Given the description of an element on the screen output the (x, y) to click on. 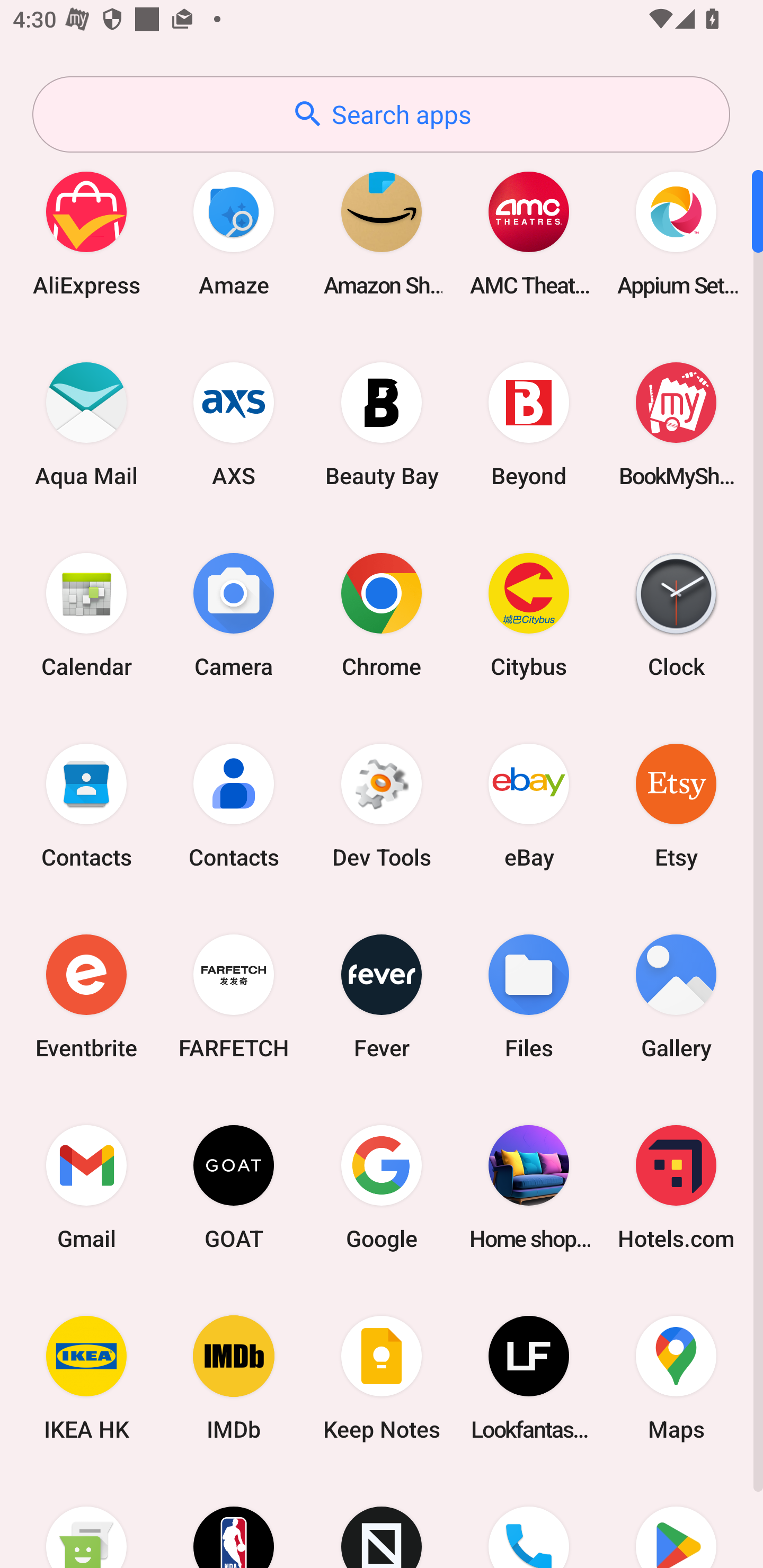
  Search apps (381, 114)
AliExpress (86, 233)
Amaze (233, 233)
Amazon Shopping (381, 233)
AMC Theatres (528, 233)
Appium Settings (676, 233)
Aqua Mail (86, 424)
AXS (233, 424)
Beauty Bay (381, 424)
Beyond (528, 424)
BookMyShow (676, 424)
Calendar (86, 614)
Camera (233, 614)
Chrome (381, 614)
Citybus (528, 614)
Clock (676, 614)
Contacts (86, 805)
Contacts (233, 805)
Dev Tools (381, 805)
eBay (528, 805)
Etsy (676, 805)
Eventbrite (86, 996)
FARFETCH (233, 996)
Fever (381, 996)
Files (528, 996)
Gallery (676, 996)
Gmail (86, 1186)
GOAT (233, 1186)
Google (381, 1186)
Home shopping (528, 1186)
Hotels.com (676, 1186)
IKEA HK (86, 1377)
IMDb (233, 1377)
Keep Notes (381, 1377)
Lookfantastic (528, 1377)
Maps (676, 1377)
